Given the description of an element on the screen output the (x, y) to click on. 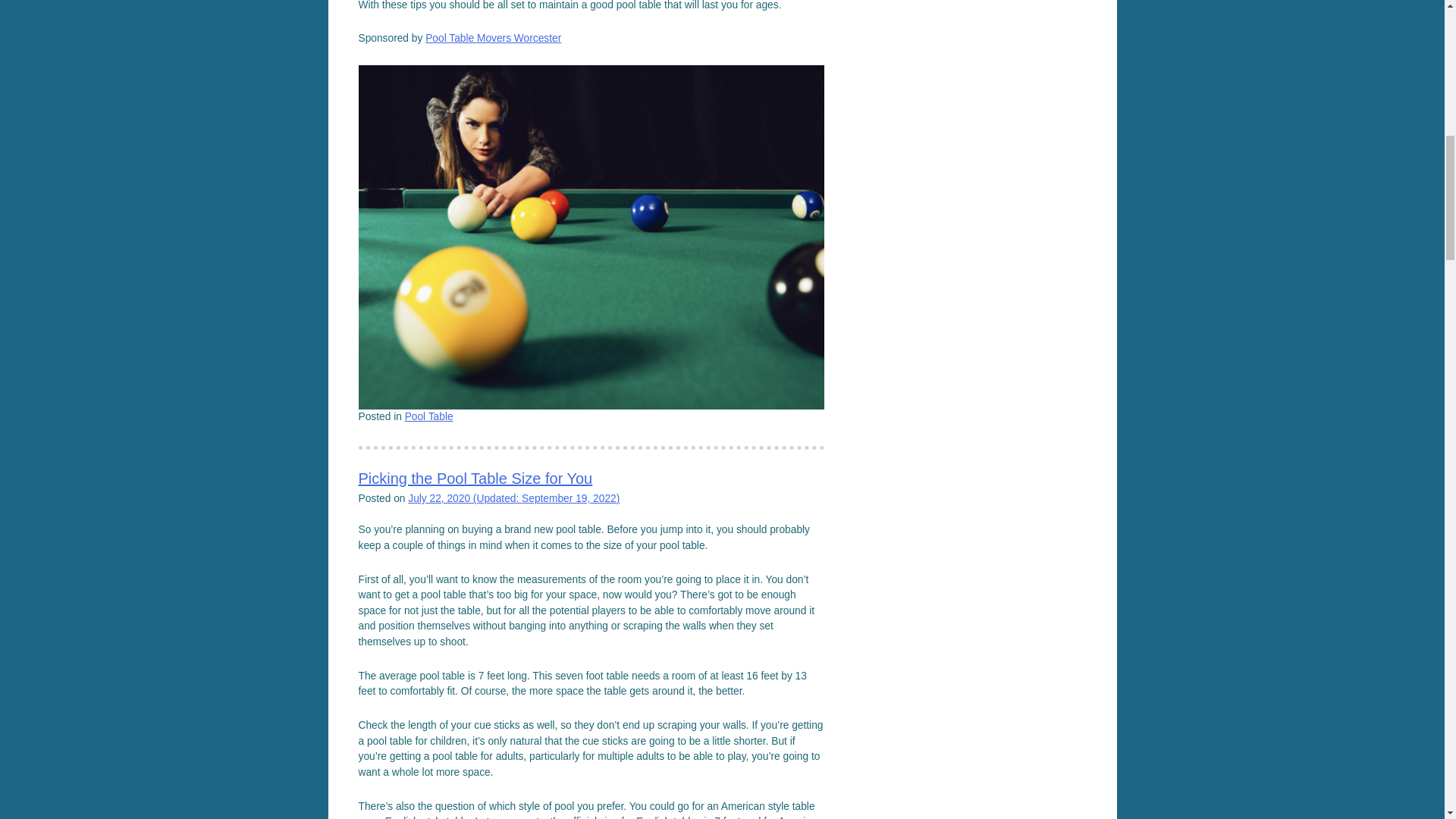
Picking the Pool Table Size for You (475, 478)
Pool Table Movers Worcester (492, 38)
Pool Table (428, 416)
